Given the description of an element on the screen output the (x, y) to click on. 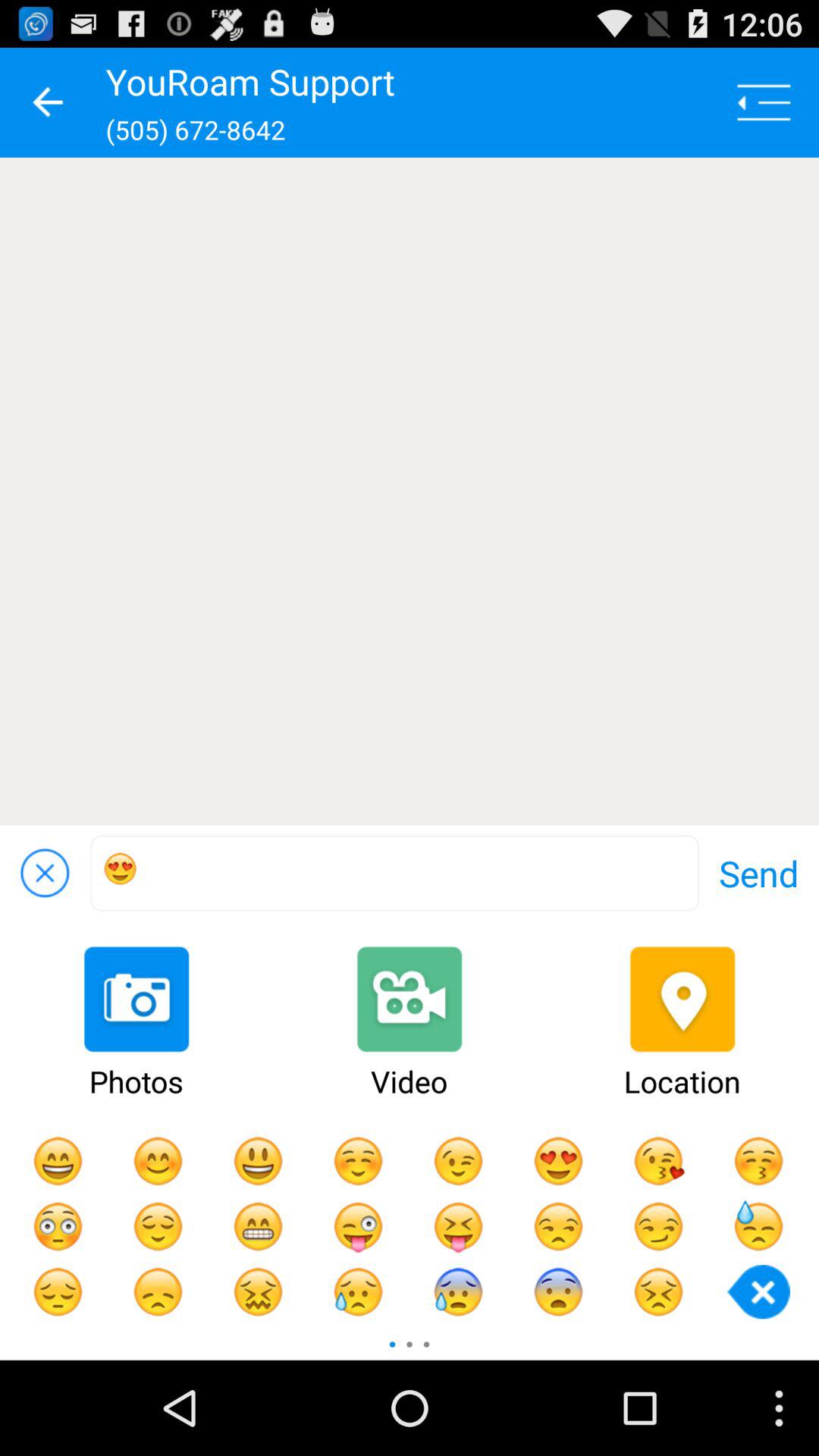
flip to e106 (394, 873)
